Given the description of an element on the screen output the (x, y) to click on. 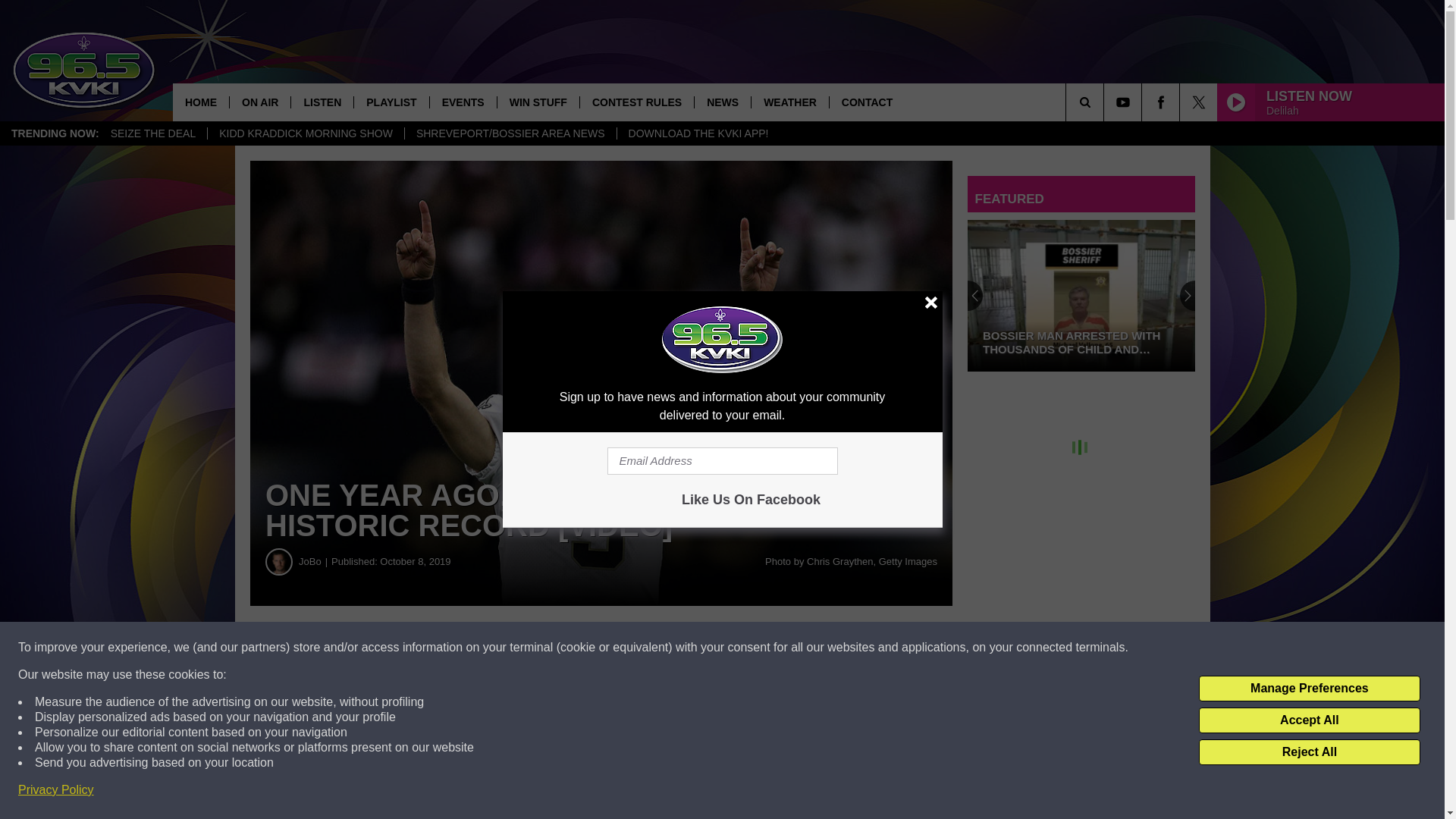
KIDD KRADDICK MORNING SHOW (305, 133)
CONTEST RULES (636, 102)
Privacy Policy (55, 789)
HOME (200, 102)
LISTEN (321, 102)
SEARCH (1106, 102)
WIN STUFF (537, 102)
SEARCH (1106, 102)
Manage Preferences (1309, 688)
NEWS (722, 102)
Email Address (722, 461)
Reject All (1309, 751)
SEIZE THE DEAL (153, 133)
ON AIR (258, 102)
EVENTS (462, 102)
